Given the description of an element on the screen output the (x, y) to click on. 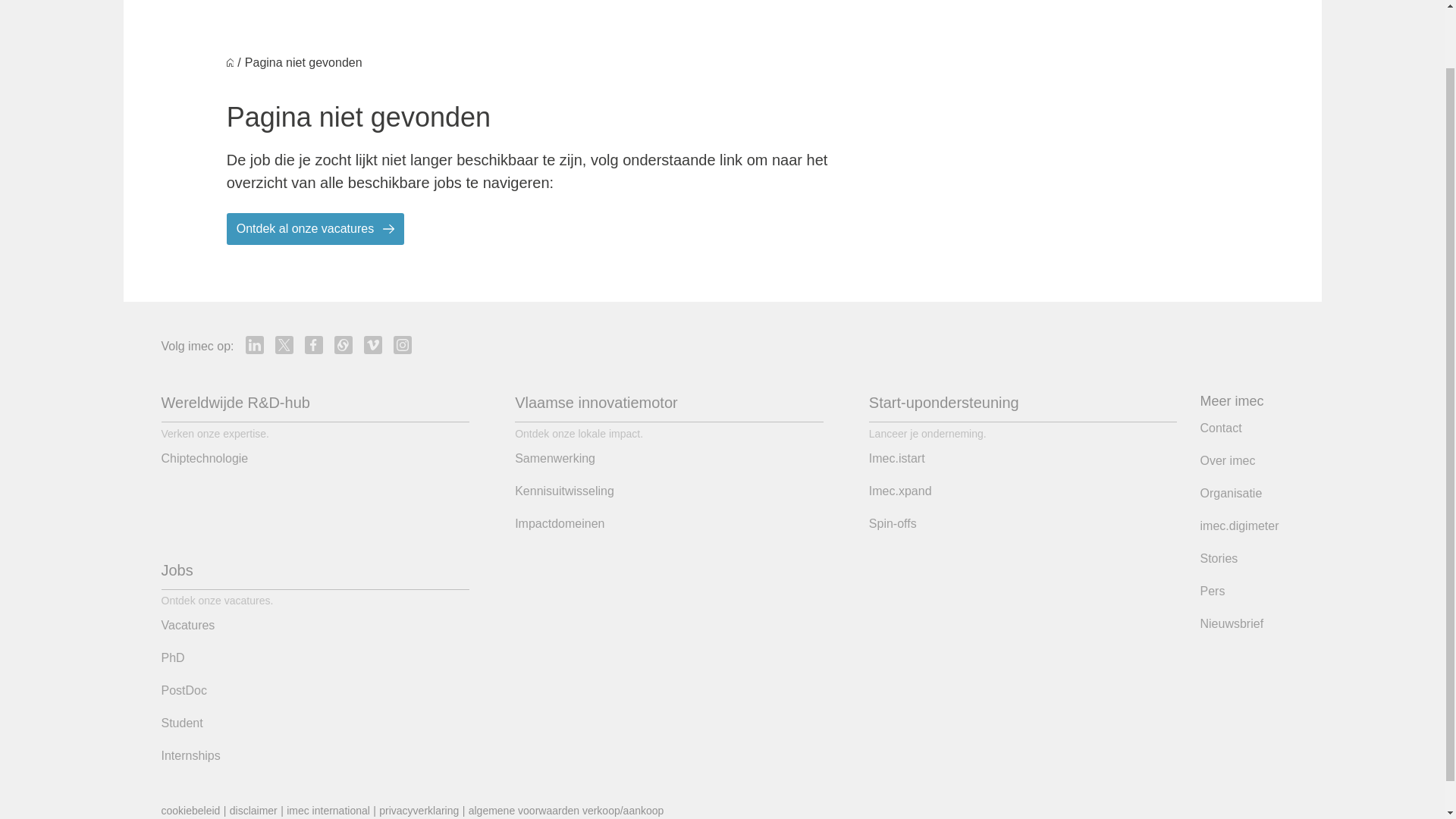
Samenwerking (555, 458)
Kennisuitwisseling (564, 491)
Swivle (343, 344)
Student (181, 723)
LinkedIn (254, 344)
Vimeo (372, 344)
Vlaamse innovatiemotor (596, 402)
Instagram (402, 344)
Start-upondersteuning (944, 402)
PhD (172, 658)
Impactdomeinen (559, 524)
X (284, 344)
Facebook (313, 344)
Ontdek al onze vacatures (315, 228)
Imec.xpand (900, 491)
